Given the description of an element on the screen output the (x, y) to click on. 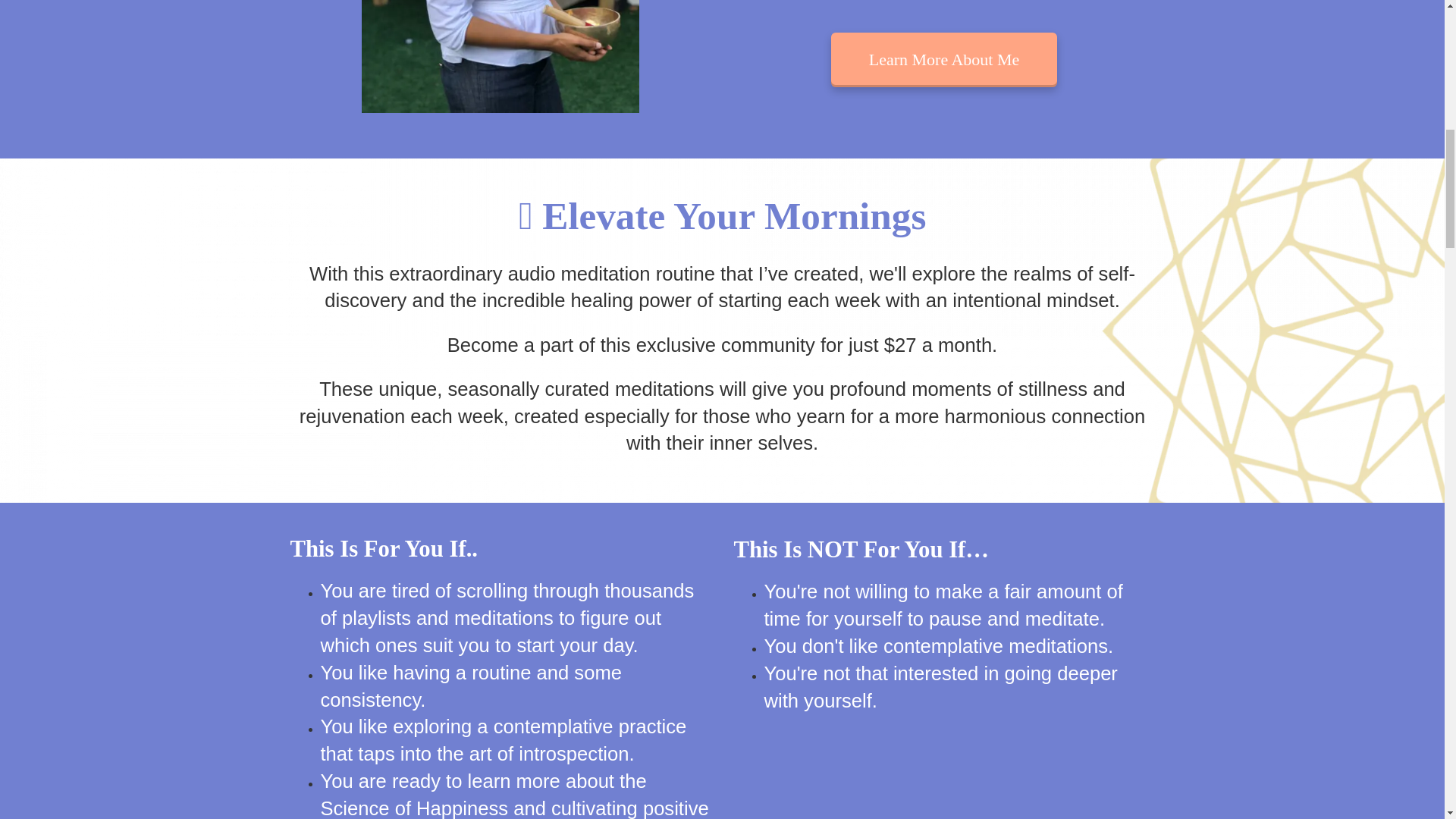
Learn More About Me (944, 59)
